Given the description of an element on the screen output the (x, y) to click on. 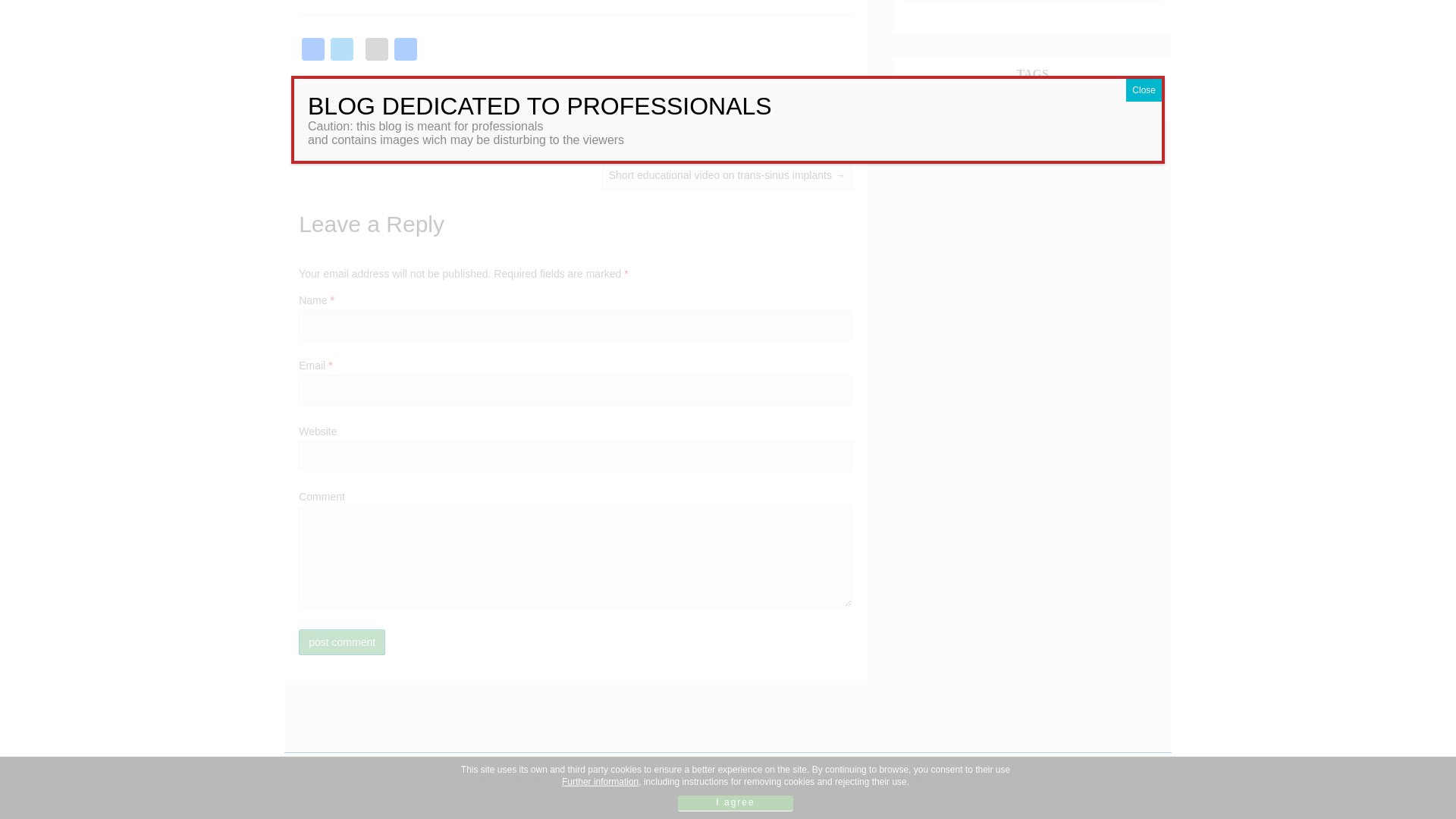
Post Comment (341, 642)
